Given the description of an element on the screen output the (x, y) to click on. 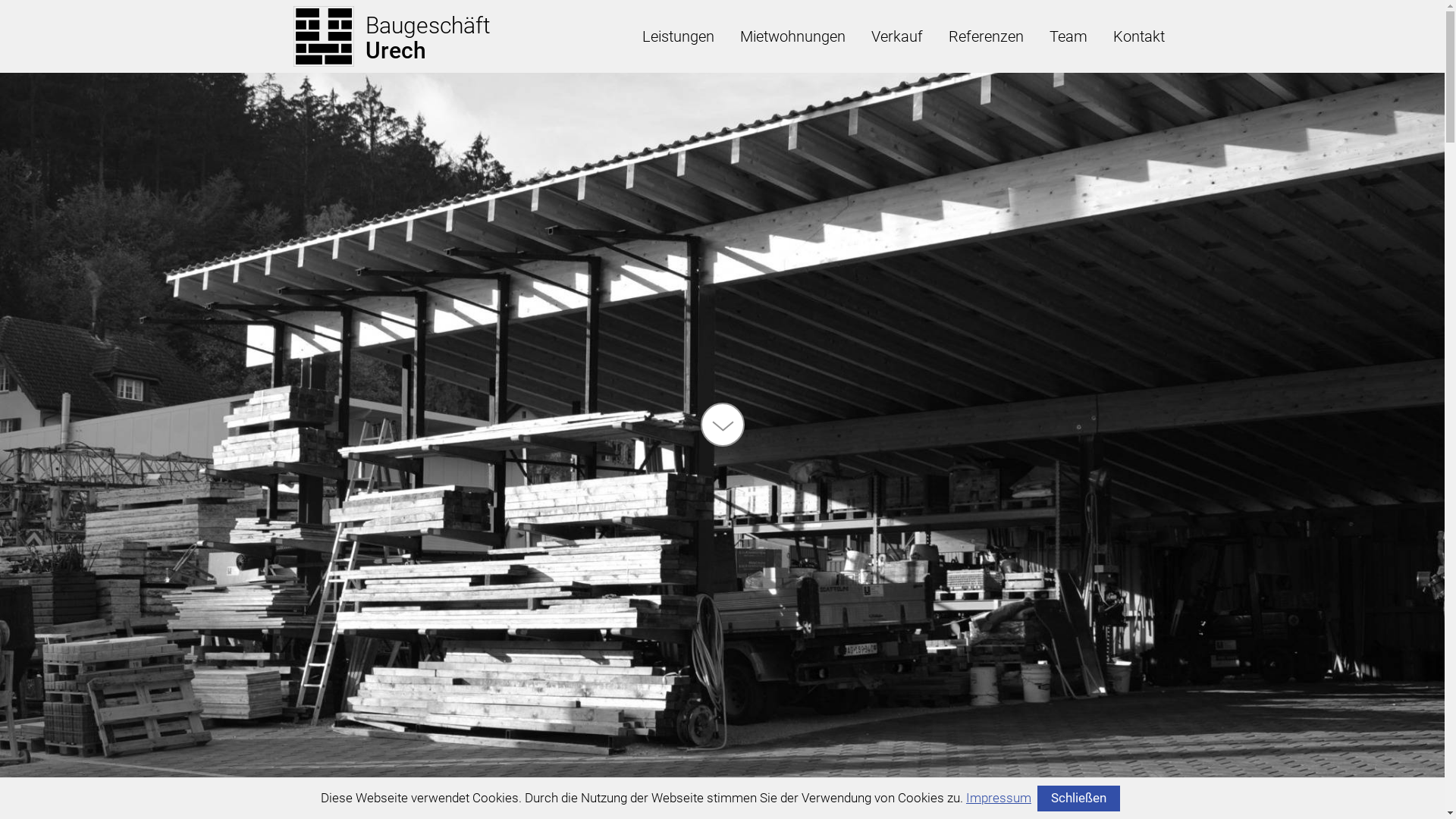
Leistungen Element type: text (678, 36)
Team Element type: text (1067, 36)
Kontakt Element type: text (1137, 36)
Impressum Element type: text (998, 797)
Verkauf Element type: text (896, 36)
Referenzen Element type: text (985, 36)
Mietwohnungen Element type: text (791, 36)
